Given the description of an element on the screen output the (x, y) to click on. 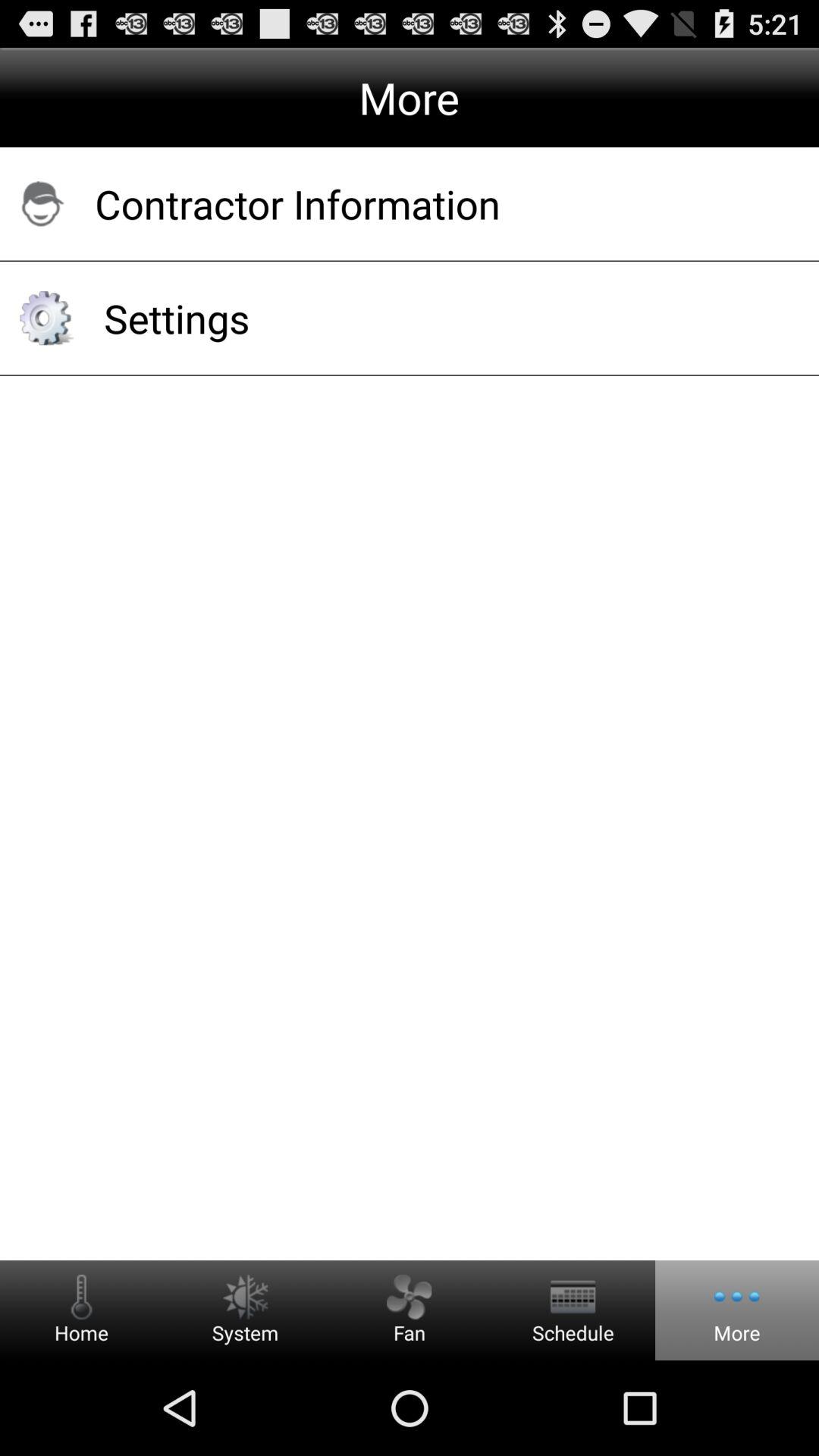
click settings item (441, 317)
